Given the description of an element on the screen output the (x, y) to click on. 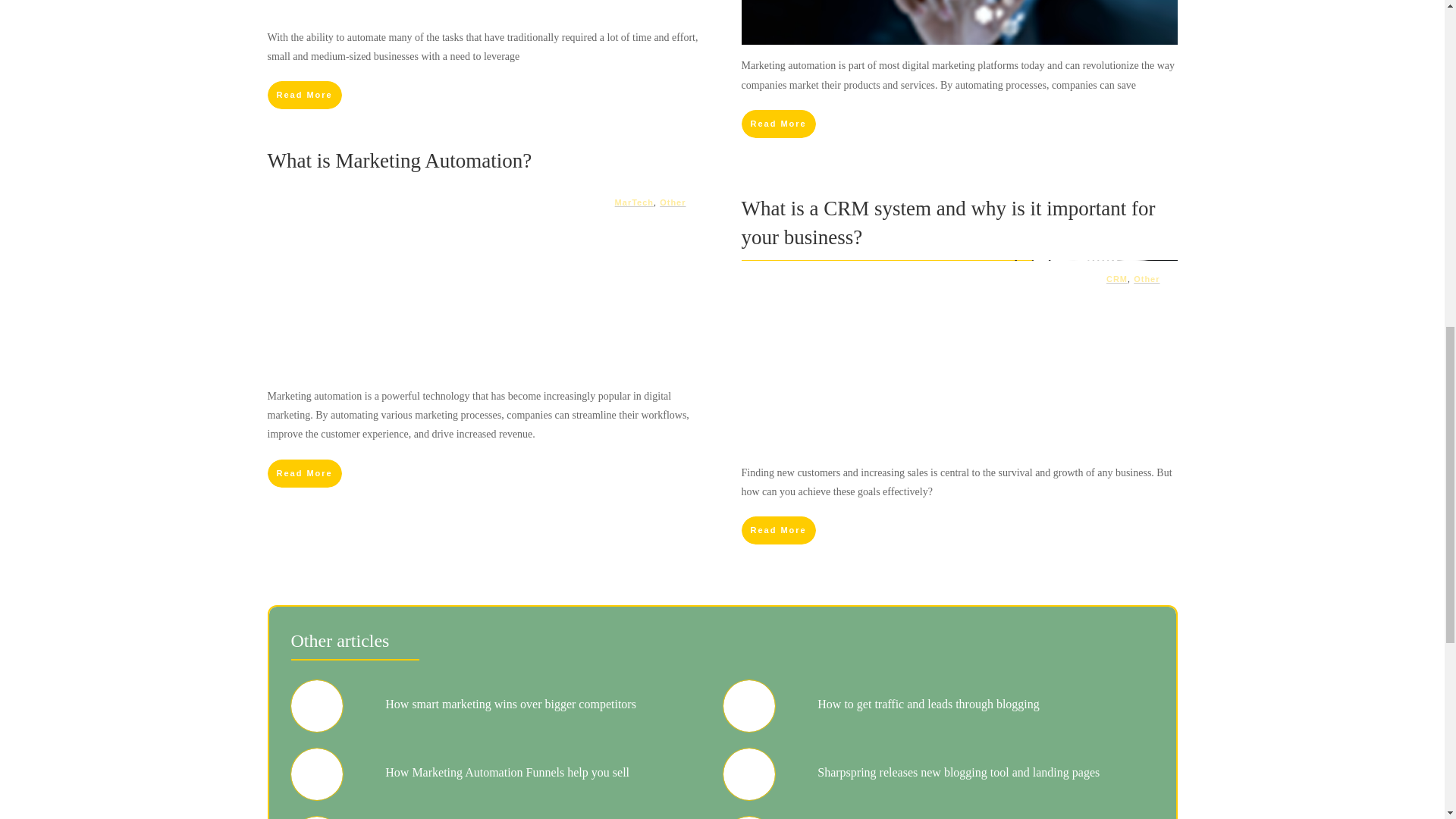
Read More (303, 473)
Read More (303, 94)
MarTech (633, 202)
MarTech (633, 202)
Other (672, 202)
Other (1146, 278)
Other (672, 202)
Read More (778, 123)
What is Marketing Automation? (398, 160)
CRM (1116, 278)
What is Marketing Automation? (398, 160)
